Given the description of an element on the screen output the (x, y) to click on. 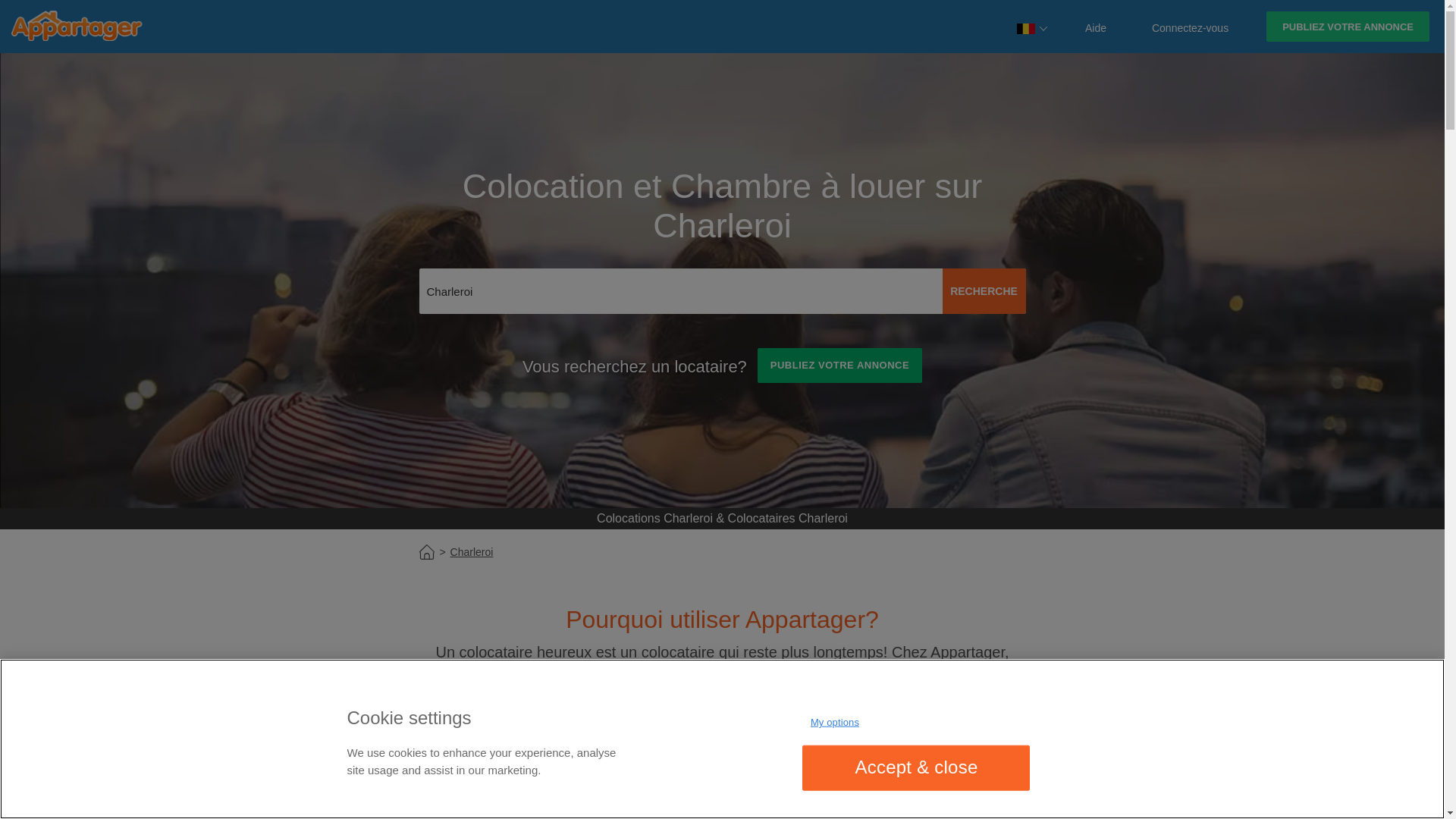
PUBLIEZ VOTRE ANNONCE Element type: text (1347, 26)
Aide Element type: text (1095, 26)
PUBLIEZ VOTRE ANNONCE Element type: text (839, 365)
Accept & close Element type: text (915, 767)
My options Element type: text (834, 722)
Connectez-vous Element type: text (1190, 26)
